Given the description of an element on the screen output the (x, y) to click on. 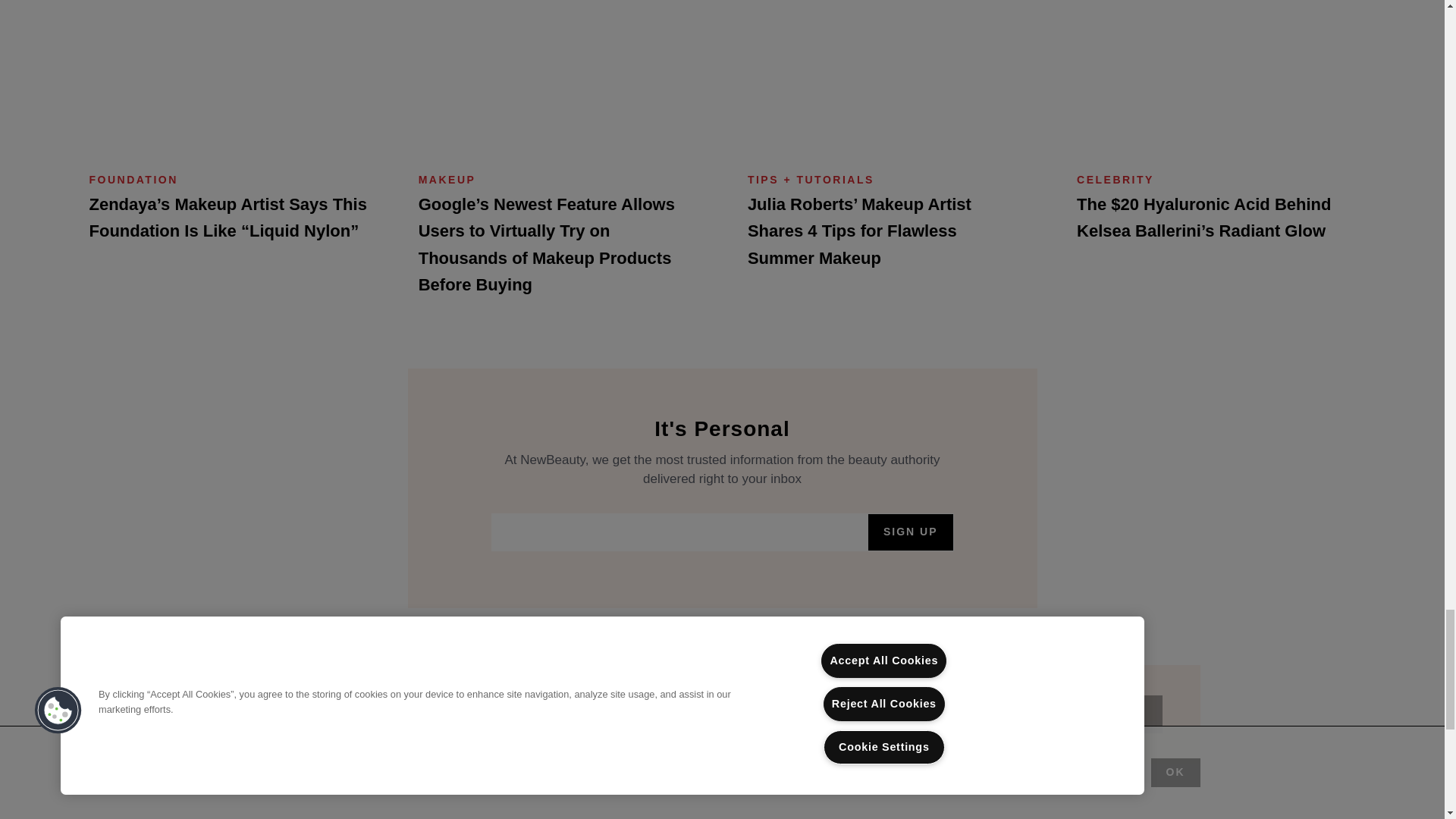
Sign Up (910, 532)
